Given the description of an element on the screen output the (x, y) to click on. 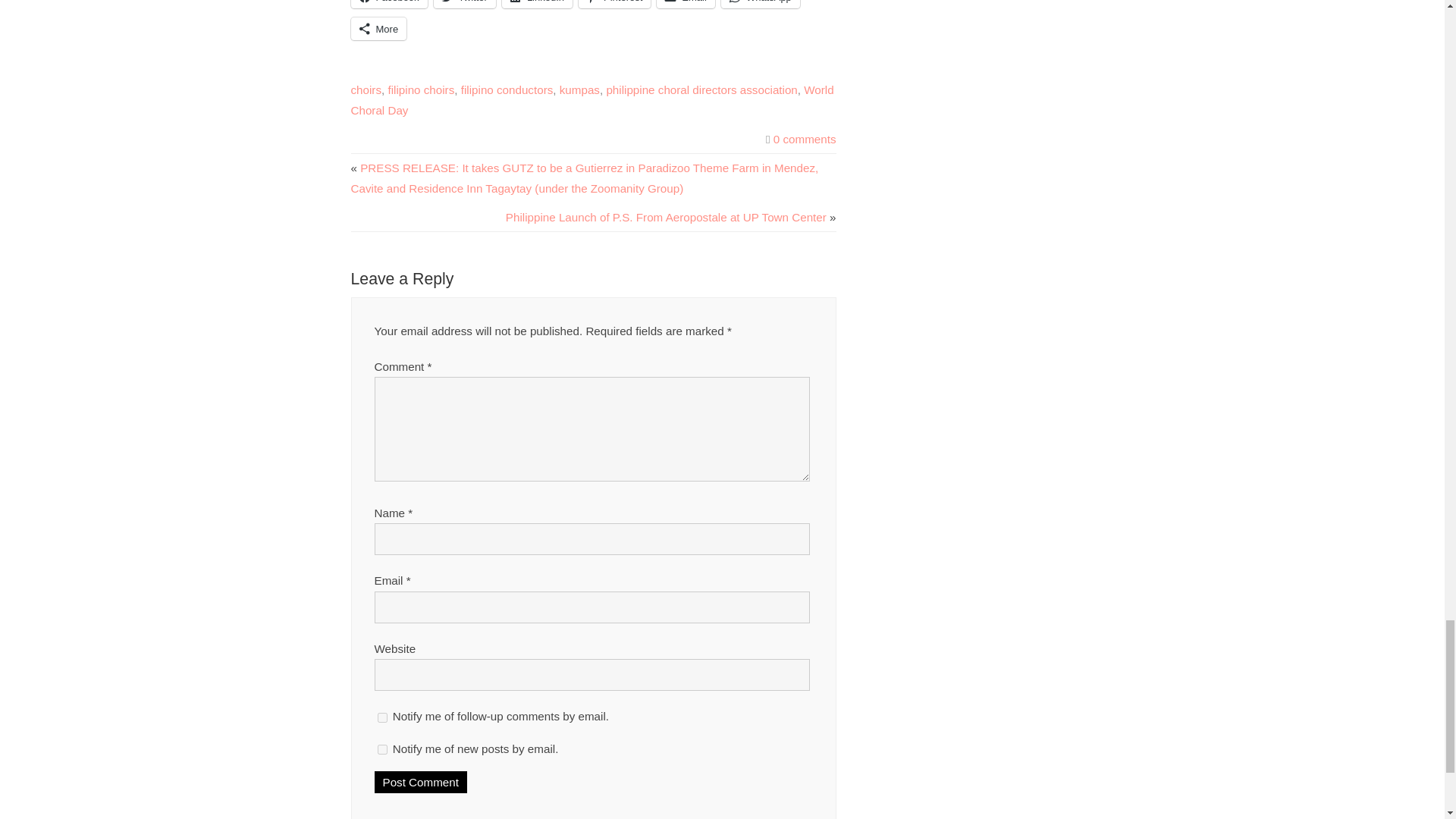
Click to share on Facebook (388, 4)
Click to share on LinkedIn (537, 4)
Facebook (388, 4)
Click to share on Pinterest (614, 4)
More (378, 28)
WhatsApp (759, 4)
Pinterest (614, 4)
Email (685, 4)
Post Comment (420, 782)
subscribe (382, 749)
